Given the description of an element on the screen output the (x, y) to click on. 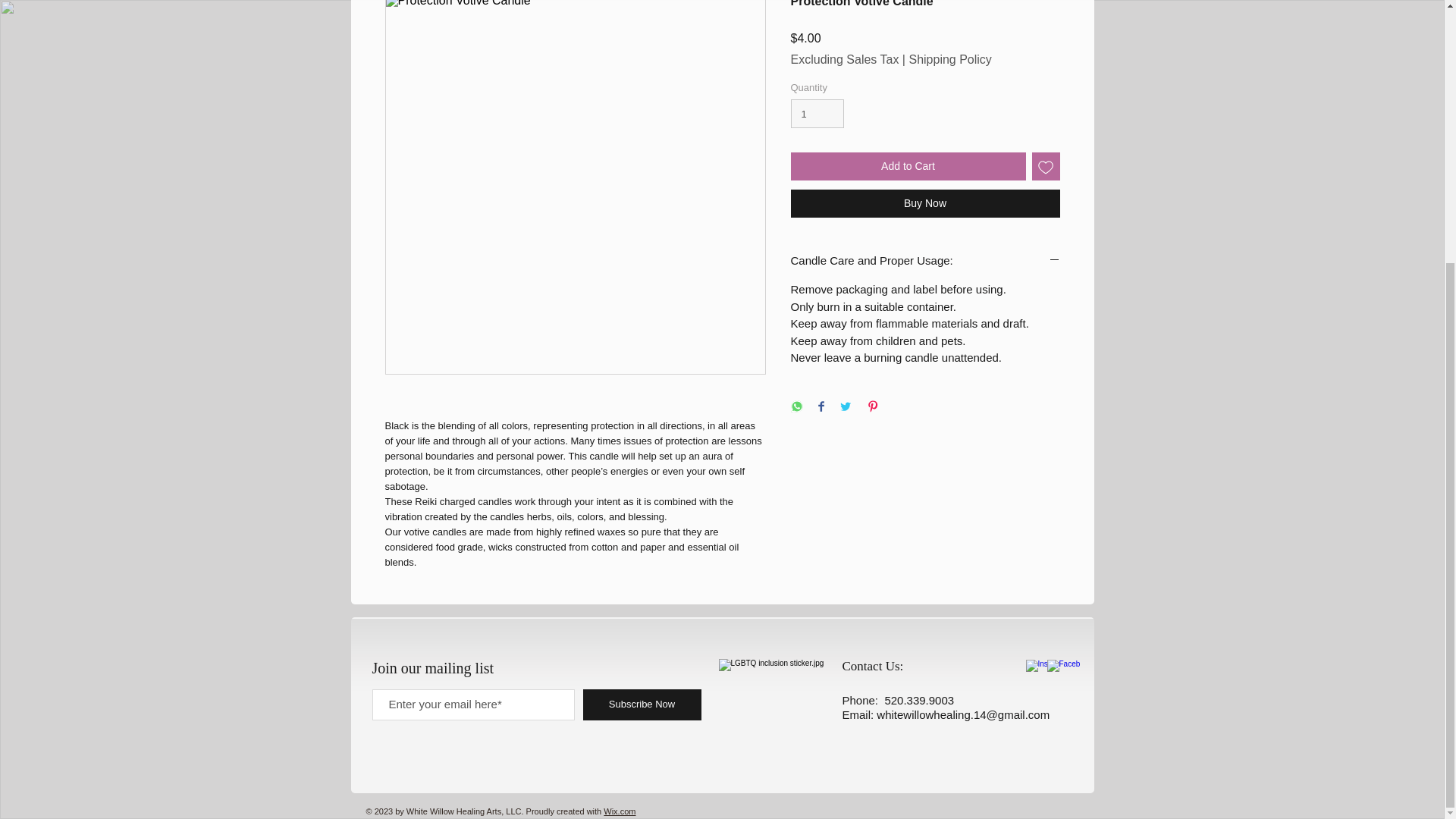
Subscribe Now (641, 704)
Add to Cart (907, 166)
1 (817, 113)
Shipping Policy (949, 59)
Wix.com (619, 810)
Candle Care and Proper Usage: (924, 260)
Buy Now (924, 203)
